Given the description of an element on the screen output the (x, y) to click on. 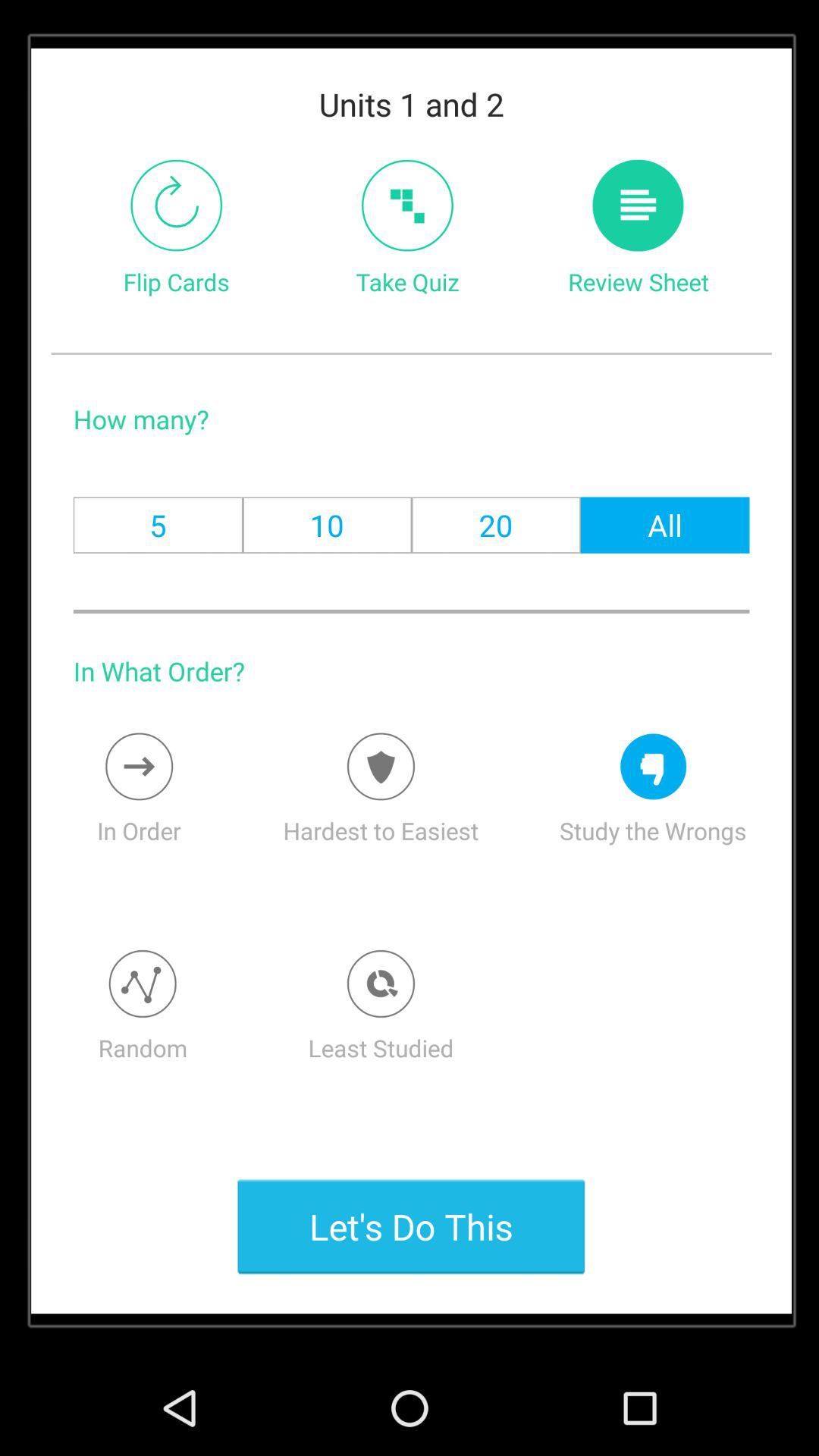
the least studied option (380, 983)
